Given the description of an element on the screen output the (x, y) to click on. 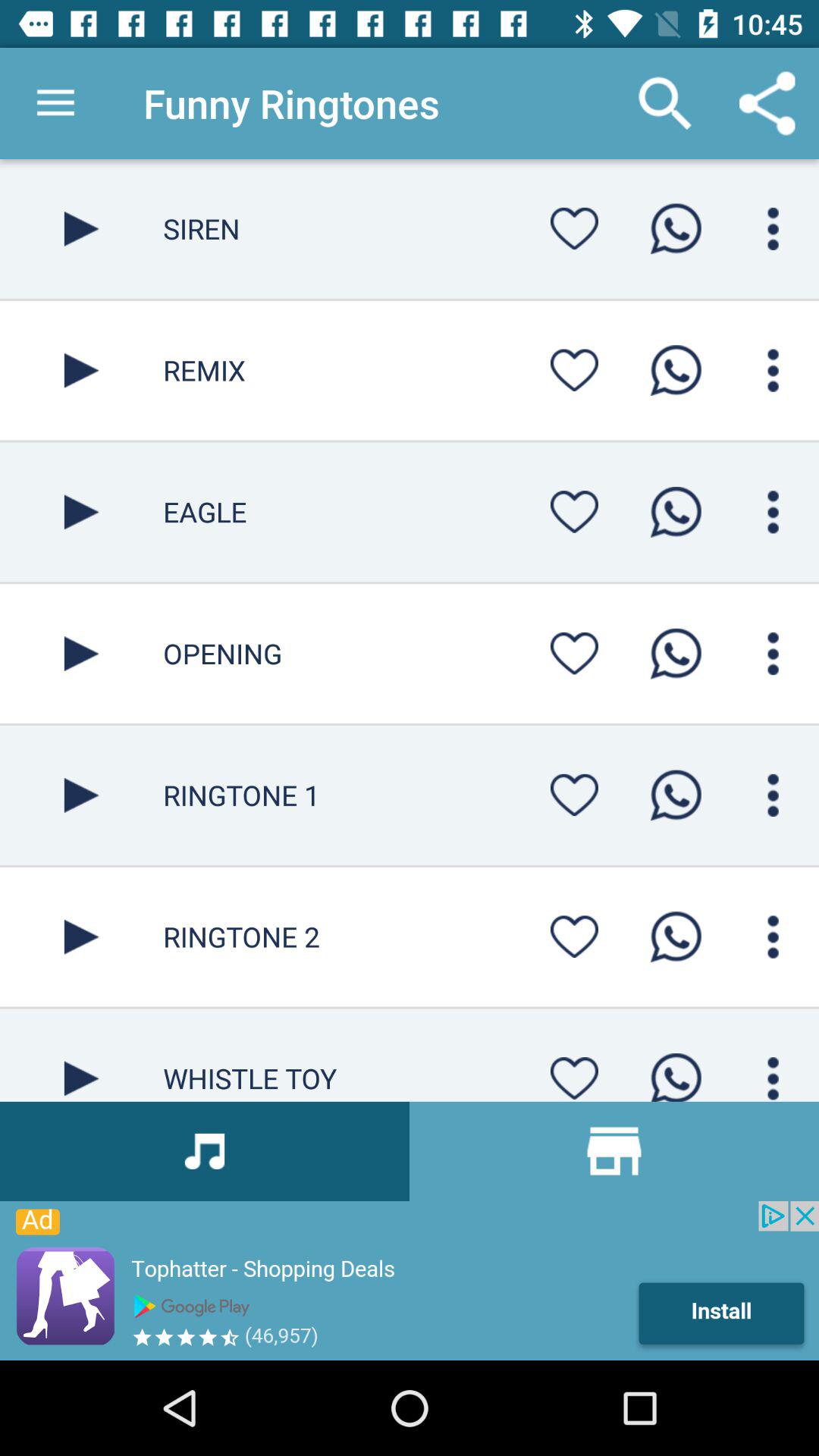
advertisement area (409, 1280)
